Given the description of an element on the screen output the (x, y) to click on. 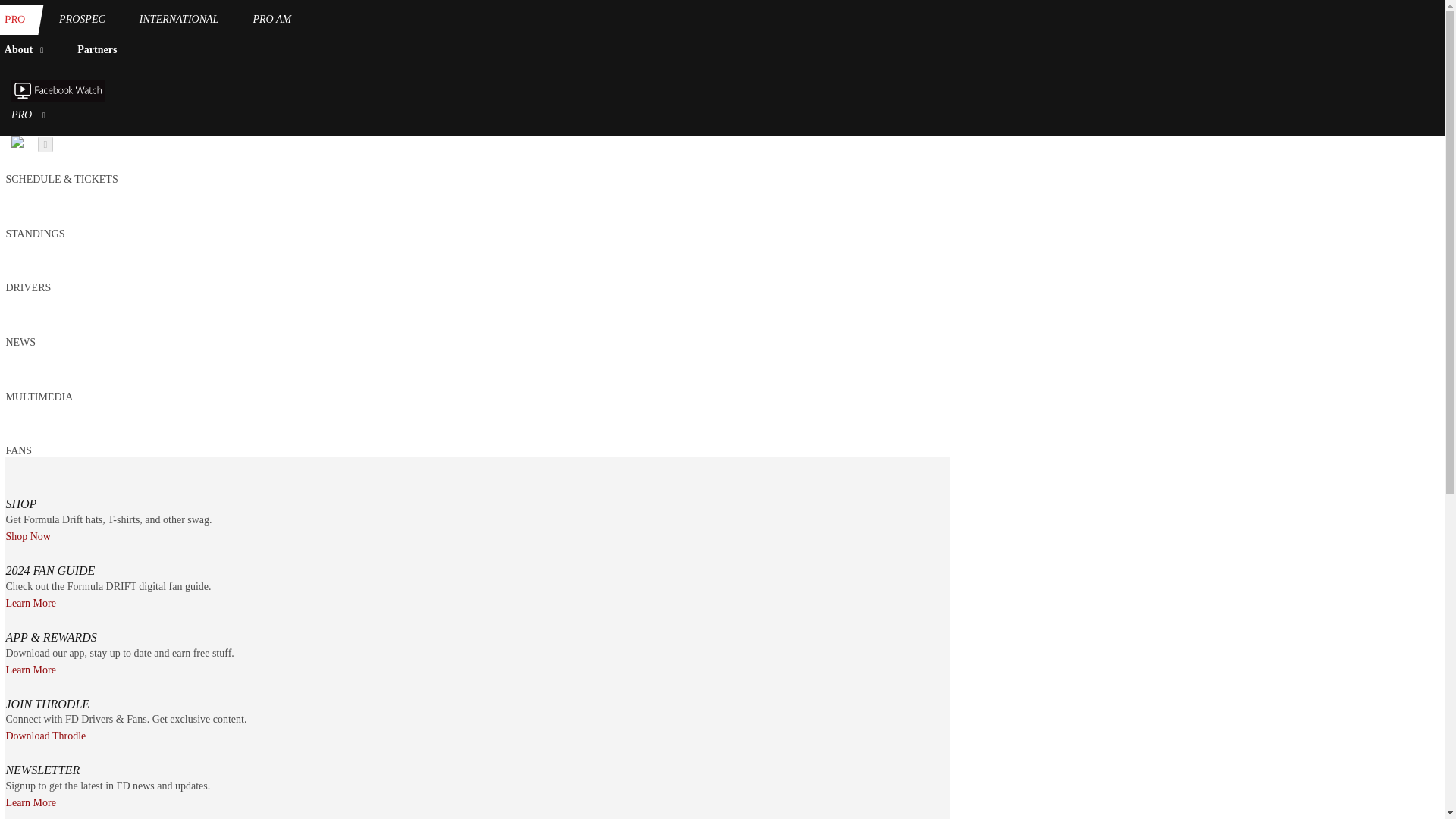
DRIVERS (27, 287)
Partners (97, 49)
INTERNATIONAL (179, 19)
STANDINGS (34, 233)
Shop Now (27, 536)
Download Throdle (45, 736)
Learn More (30, 603)
PROSPEC (81, 19)
PRO AM (271, 19)
About   (27, 49)
